Given the description of an element on the screen output the (x, y) to click on. 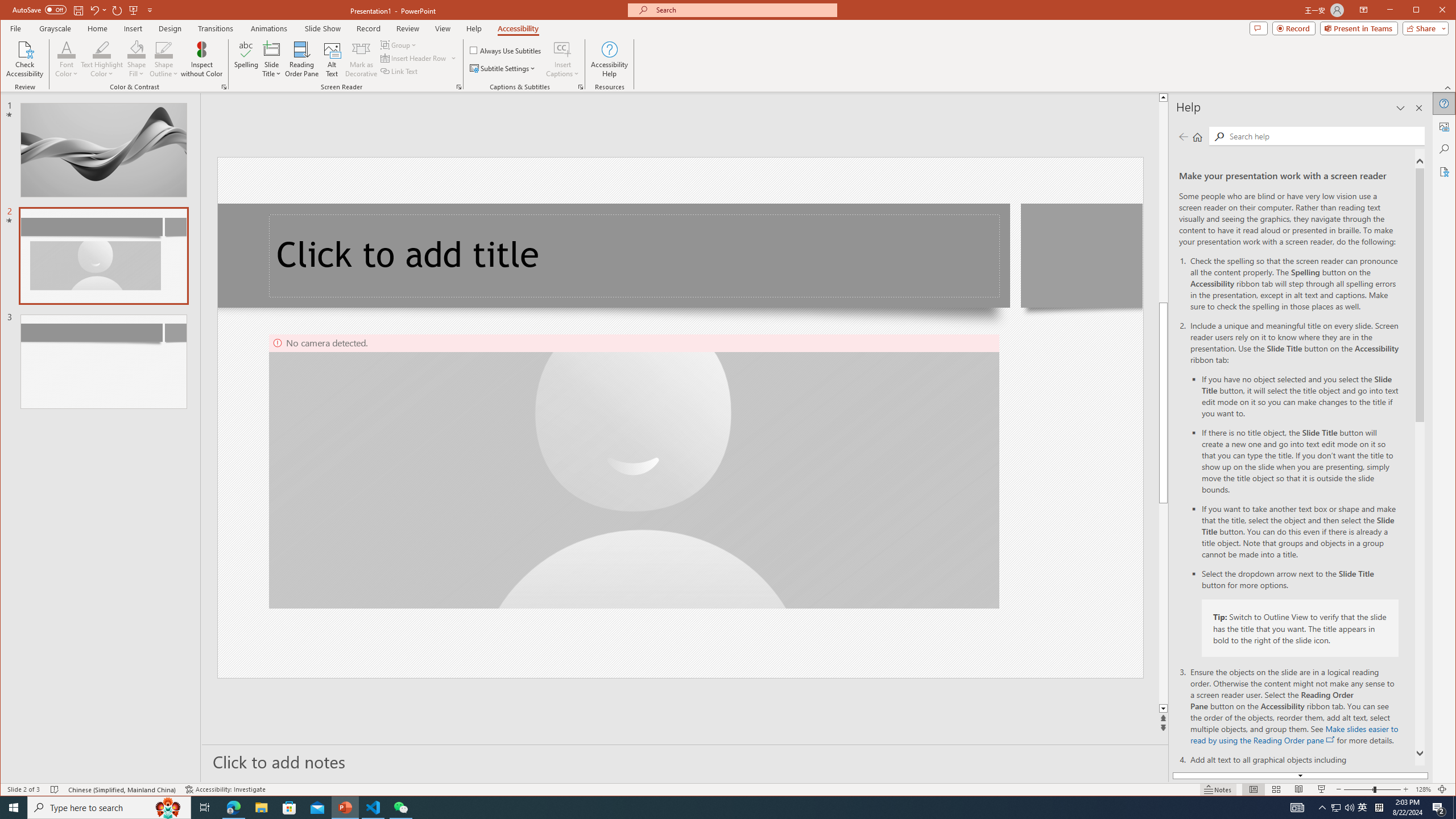
Maximize (1432, 11)
Action Center, 2 new notifications (1439, 807)
Notification Chevron (1322, 807)
Color & Contrast (223, 86)
Check Accessibility (25, 59)
Shape Outline Blue, Accent 1 (163, 48)
Mark as Decorative (360, 59)
Text Highlight Color (102, 59)
Show desktop (1454, 807)
